Given the description of an element on the screen output the (x, y) to click on. 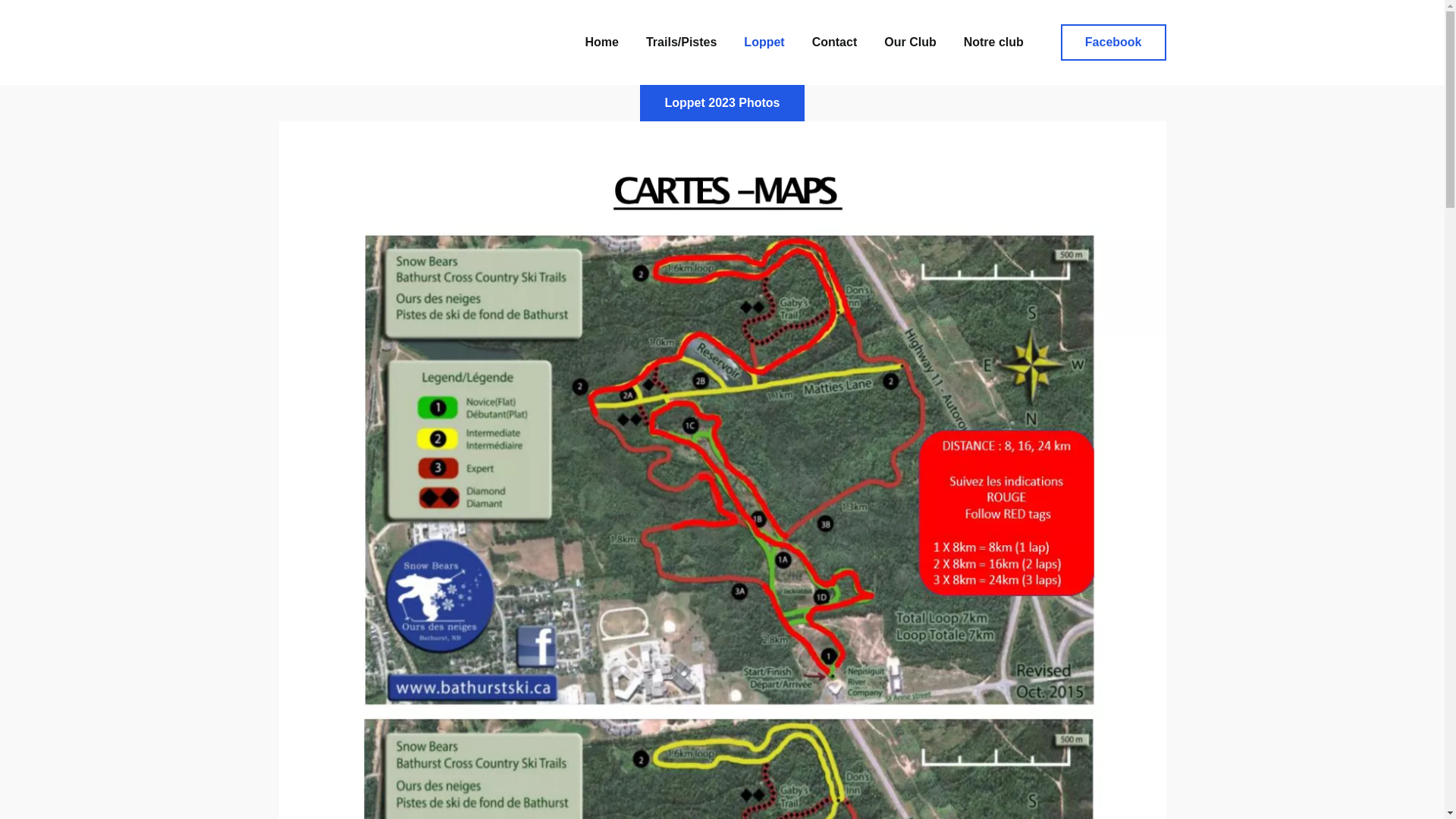
Contact Element type: text (834, 42)
Loppet Element type: text (763, 42)
Home Element type: text (601, 42)
Loppet 2023 Photos Element type: text (721, 102)
Our Club Element type: text (909, 42)
Facebook Element type: text (1113, 42)
Notre club Element type: text (993, 42)
Trails/Pistes Element type: text (681, 42)
